Given the description of an element on the screen output the (x, y) to click on. 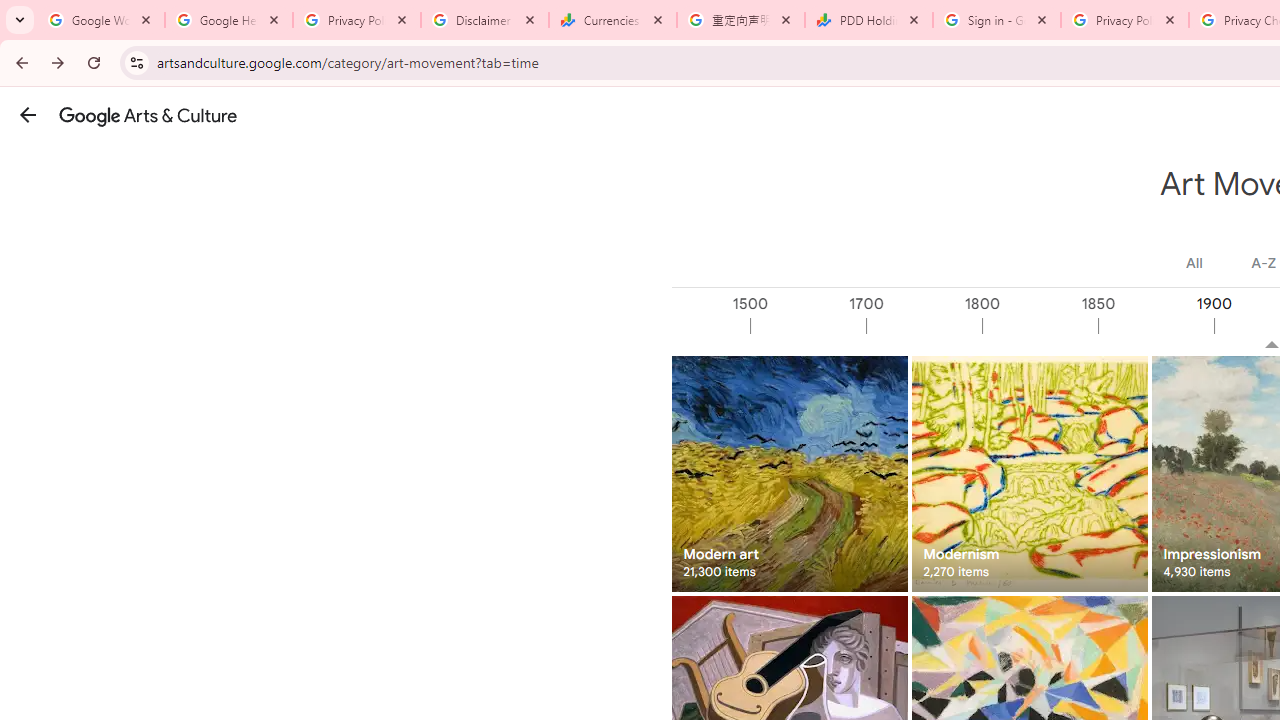
Currencies - Google Finance (613, 20)
Google Arts & Culture (148, 115)
1500 (807, 326)
1700 (923, 326)
1800 (1039, 326)
1000 (691, 326)
PDD Holdings Inc - ADR (PDD) Price & News - Google Finance (869, 20)
